Given the description of an element on the screen output the (x, y) to click on. 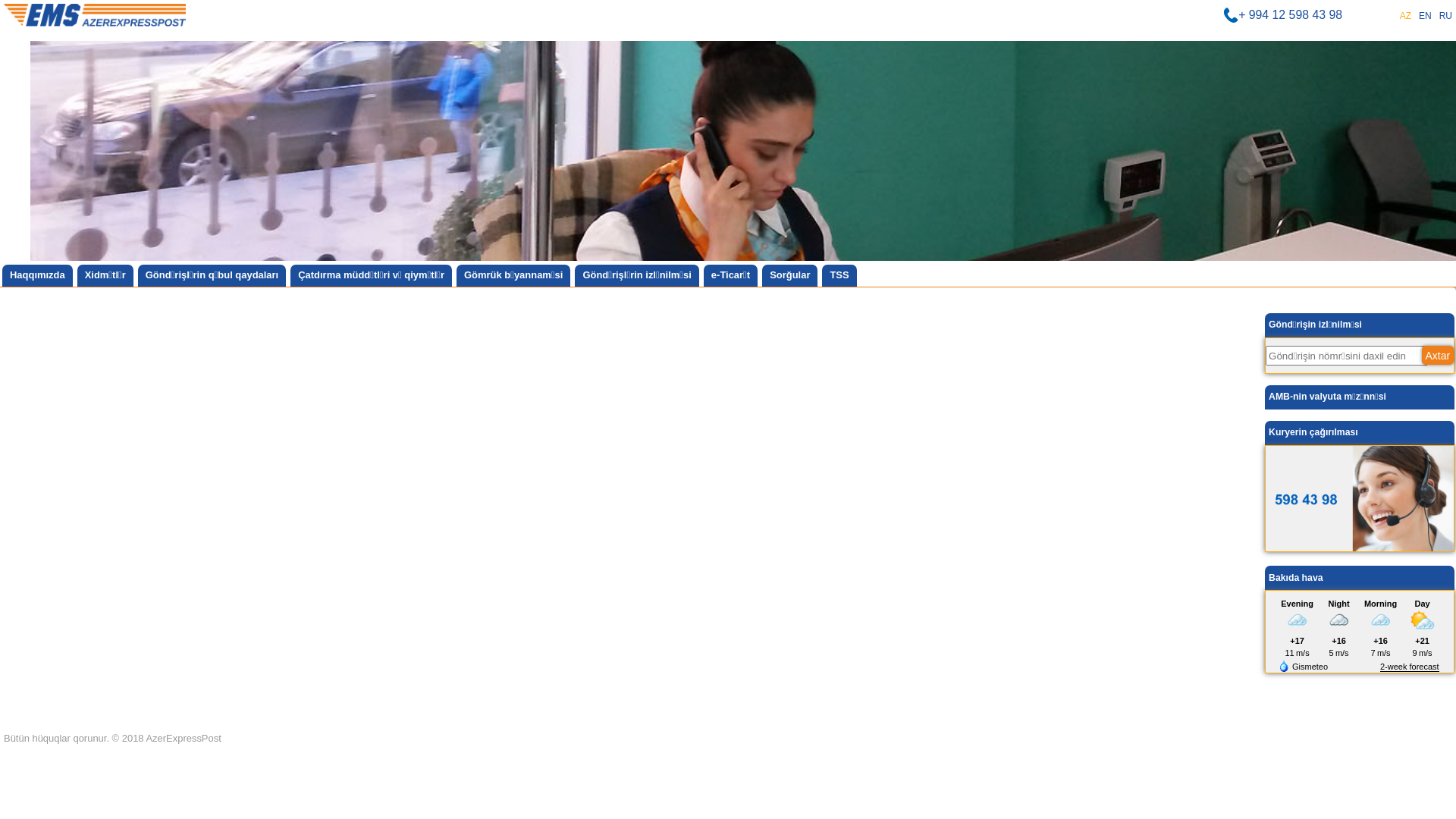
Weather in Baku for 2-week forecast Element type: hover (1409, 666)
Weather in Baku Element type: hover (1303, 665)
Axtar Element type: text (1437, 354)
Mainly cloudy Element type: hover (1339, 619)
Partly cloudy Element type: hover (1422, 619)
Mainly cloudy Element type: hover (1297, 619)
TSS Element type: text (839, 274)
EN Element type: text (1425, 15)
Mainly cloudy Element type: hover (1380, 619)
AZ Element type: text (1405, 15)
